Given the description of an element on the screen output the (x, y) to click on. 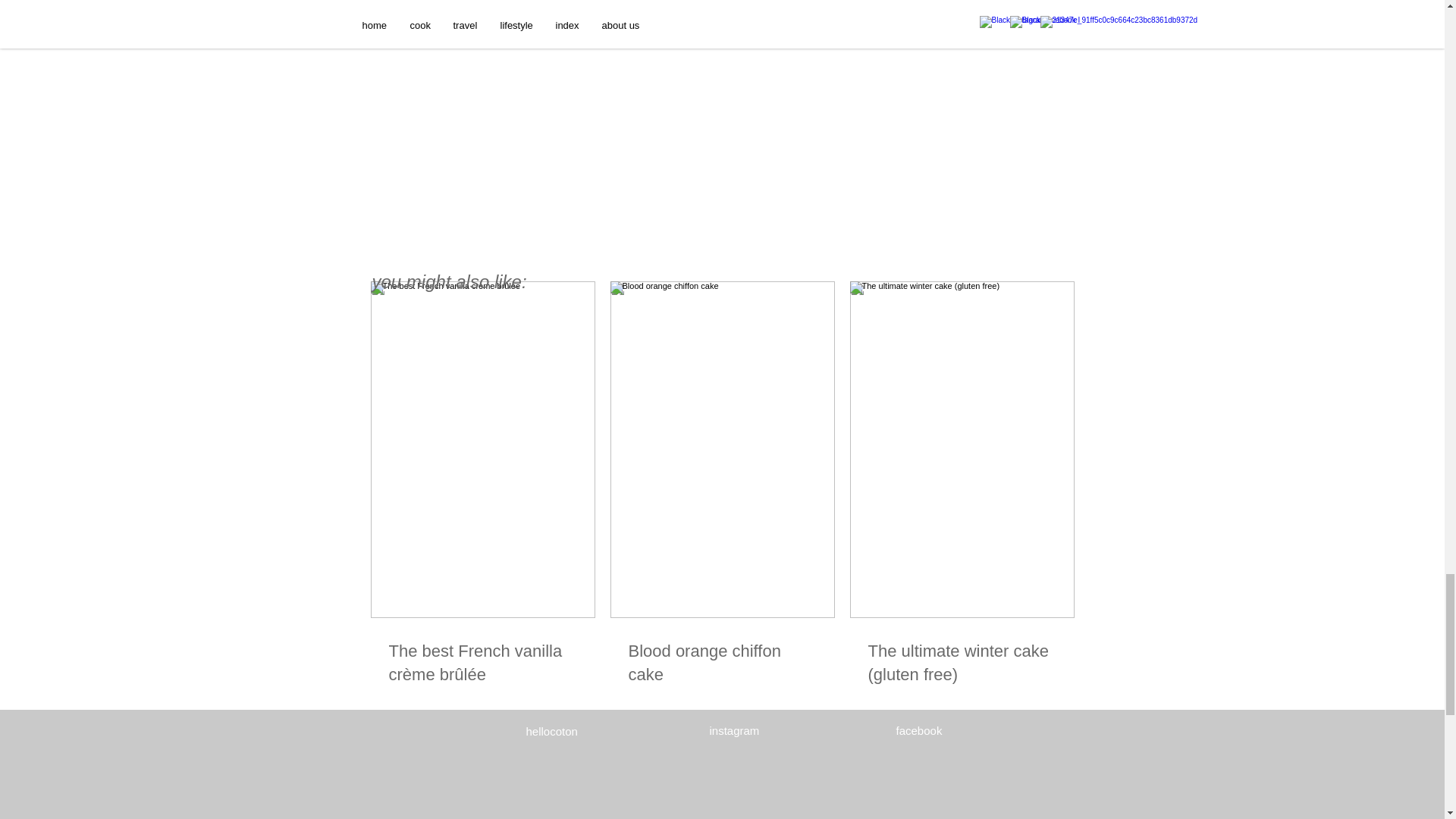
hellocoton (551, 730)
facebook (919, 730)
instagram (735, 730)
Blood orange chiffon cake (721, 663)
